Given the description of an element on the screen output the (x, y) to click on. 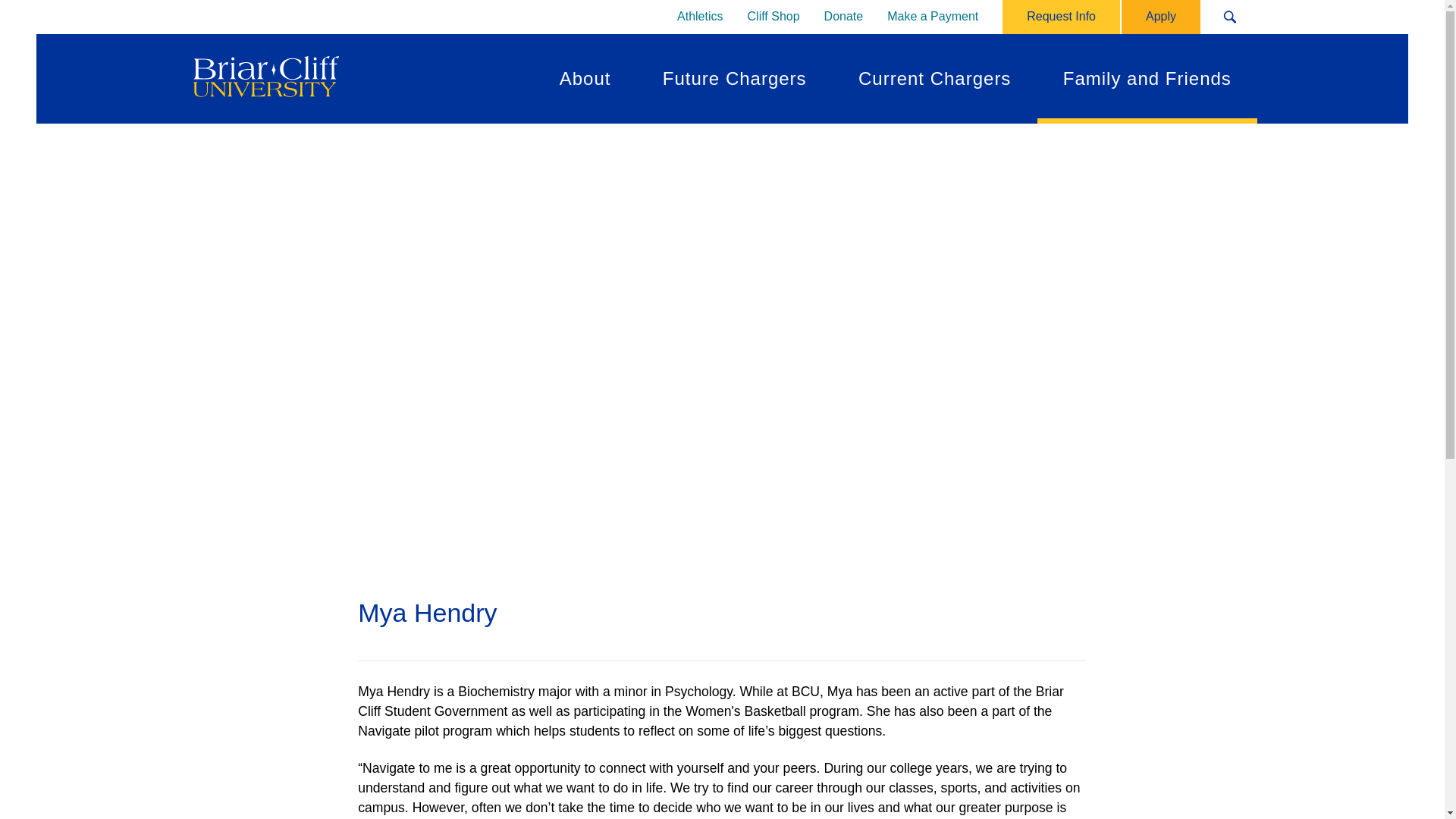
Make a Payment (932, 17)
Briar Cliff University. Link to homepage (263, 78)
Cliff Shop (773, 17)
Athletics (700, 17)
Search (1229, 17)
Donate (844, 17)
Search (1229, 17)
About (585, 78)
Request Info (1061, 17)
Apply (1160, 17)
